Given the description of an element on the screen output the (x, y) to click on. 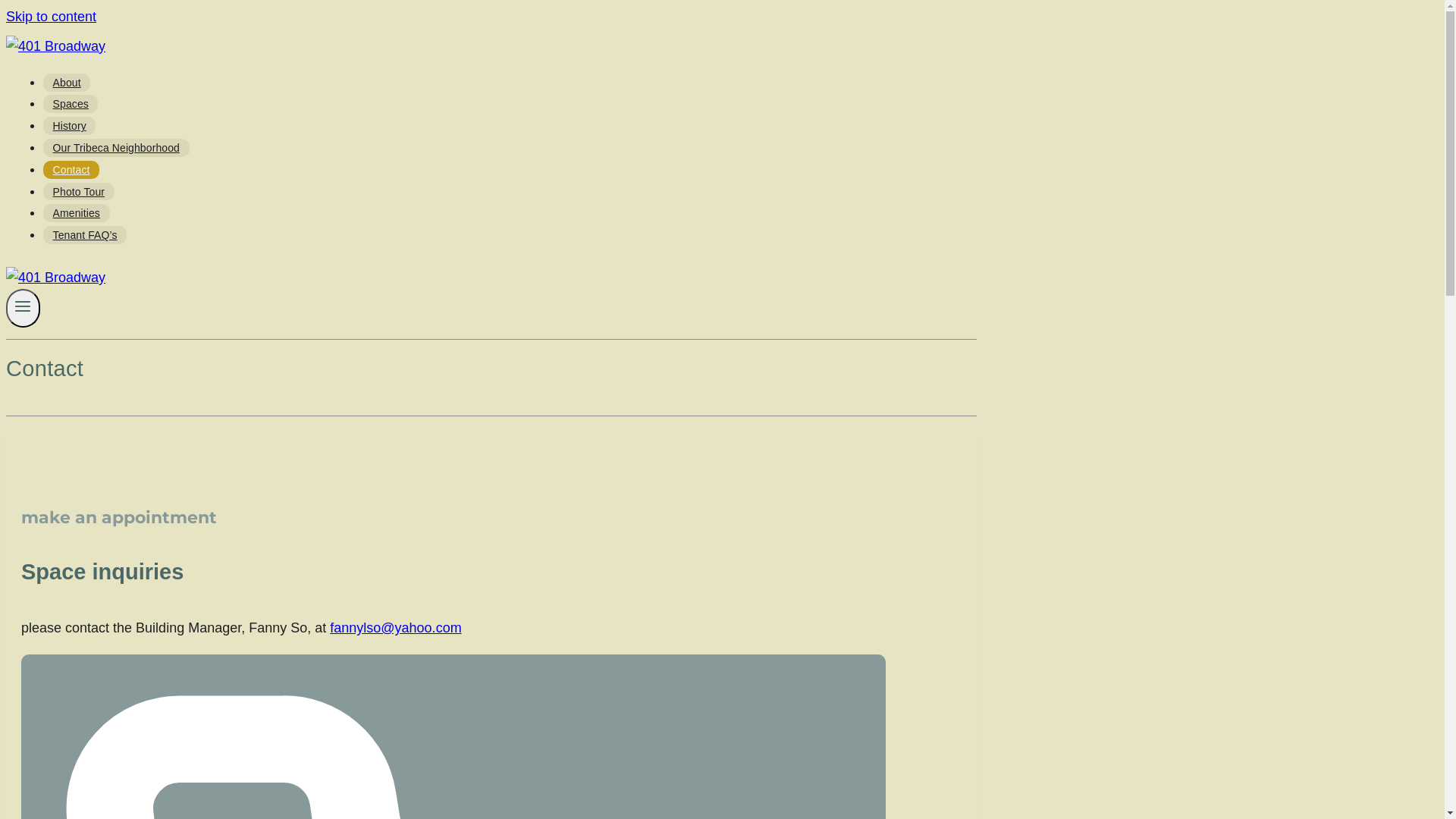
About Element type: text (66, 82)
Contact Element type: text (71, 169)
Amenities Element type: text (76, 212)
Spaces Element type: text (70, 103)
Skip to content Element type: text (51, 16)
Photo Tour Element type: text (78, 191)
Our Tribeca Neighborhood Element type: text (116, 147)
History Element type: text (69, 125)
fannylso@yahoo.com Element type: text (395, 627)
Toggle Menu Element type: text (23, 307)
